Given the description of an element on the screen output the (x, y) to click on. 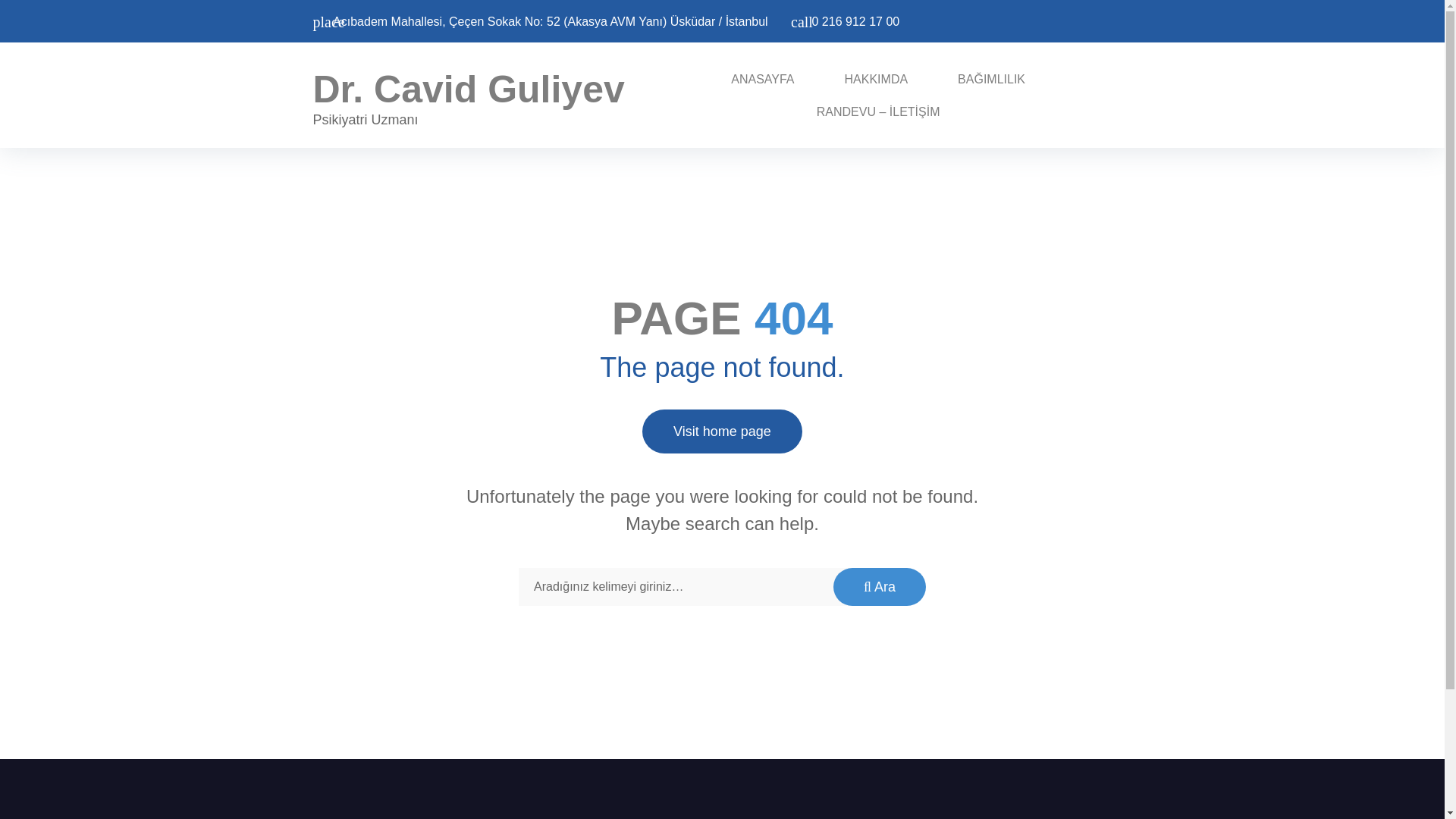
Dr. Cavid Guliyev (468, 88)
Ara (879, 587)
Visit home page (722, 431)
HAKKIMDA (876, 79)
ANASAYFA (762, 79)
